Given the description of an element on the screen output the (x, y) to click on. 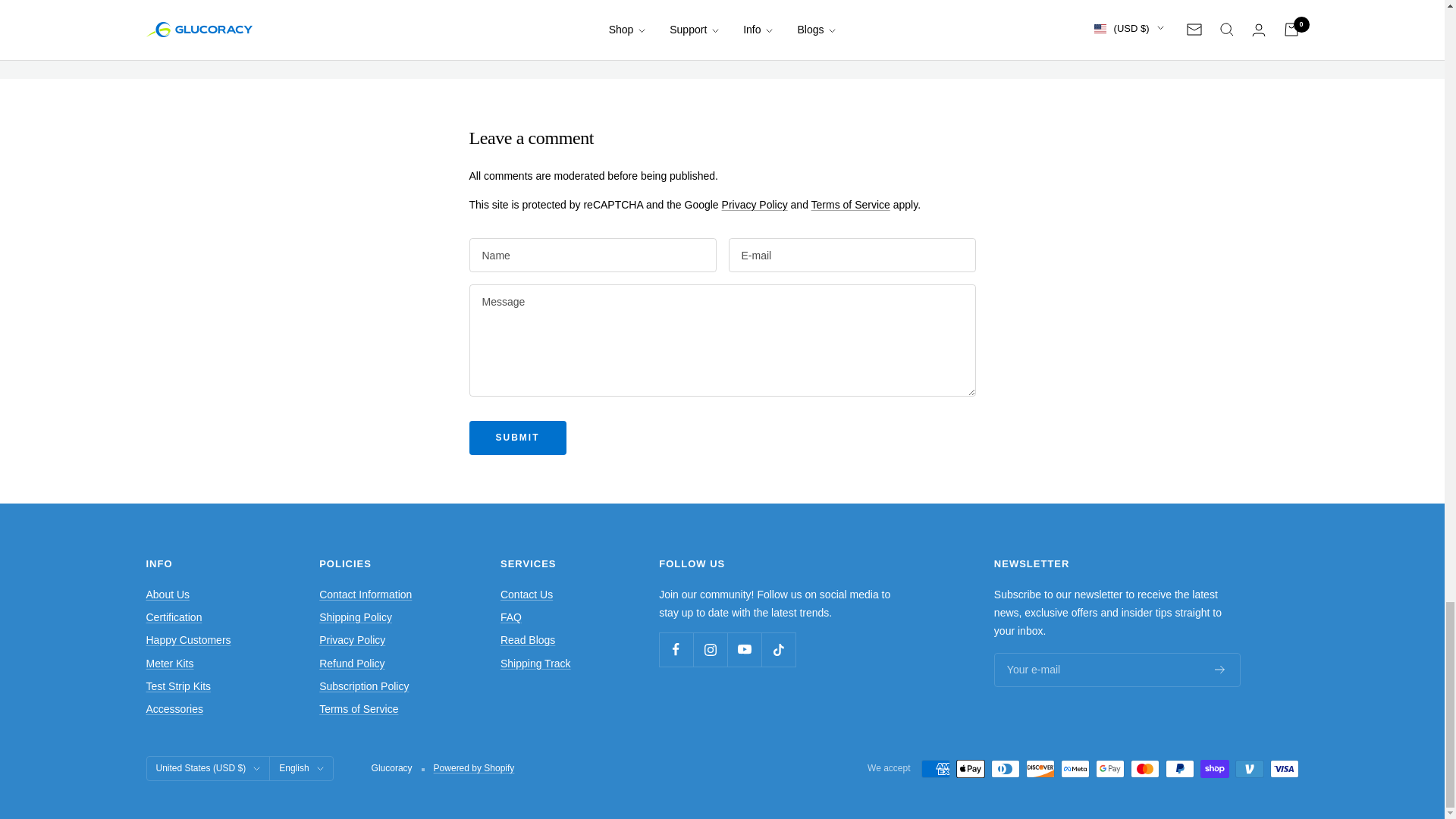
Register (1219, 669)
